Given the description of an element on the screen output the (x, y) to click on. 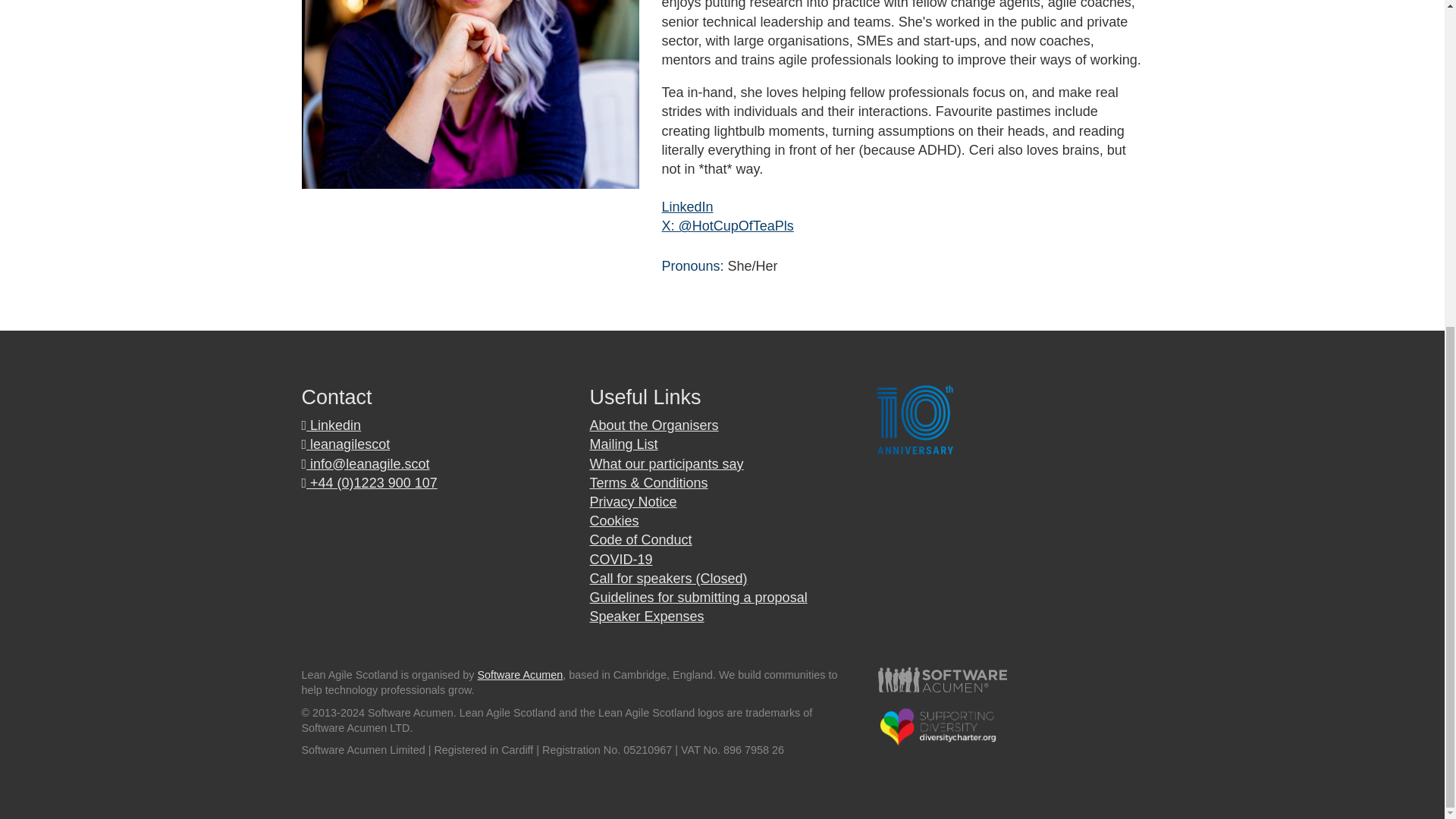
Code of Conduct (640, 539)
About the Organisers (653, 425)
Software Acumen (520, 674)
Linkedin (331, 425)
Privacy Notice (633, 501)
Speaker Expenses (646, 616)
leanagilescot (345, 444)
LinkedIn (687, 206)
COVID-19 (620, 559)
Cookies (614, 520)
What our participants say (665, 463)
Mailing List (623, 444)
Guidelines for submitting a proposal (697, 597)
